Given the description of an element on the screen output the (x, y) to click on. 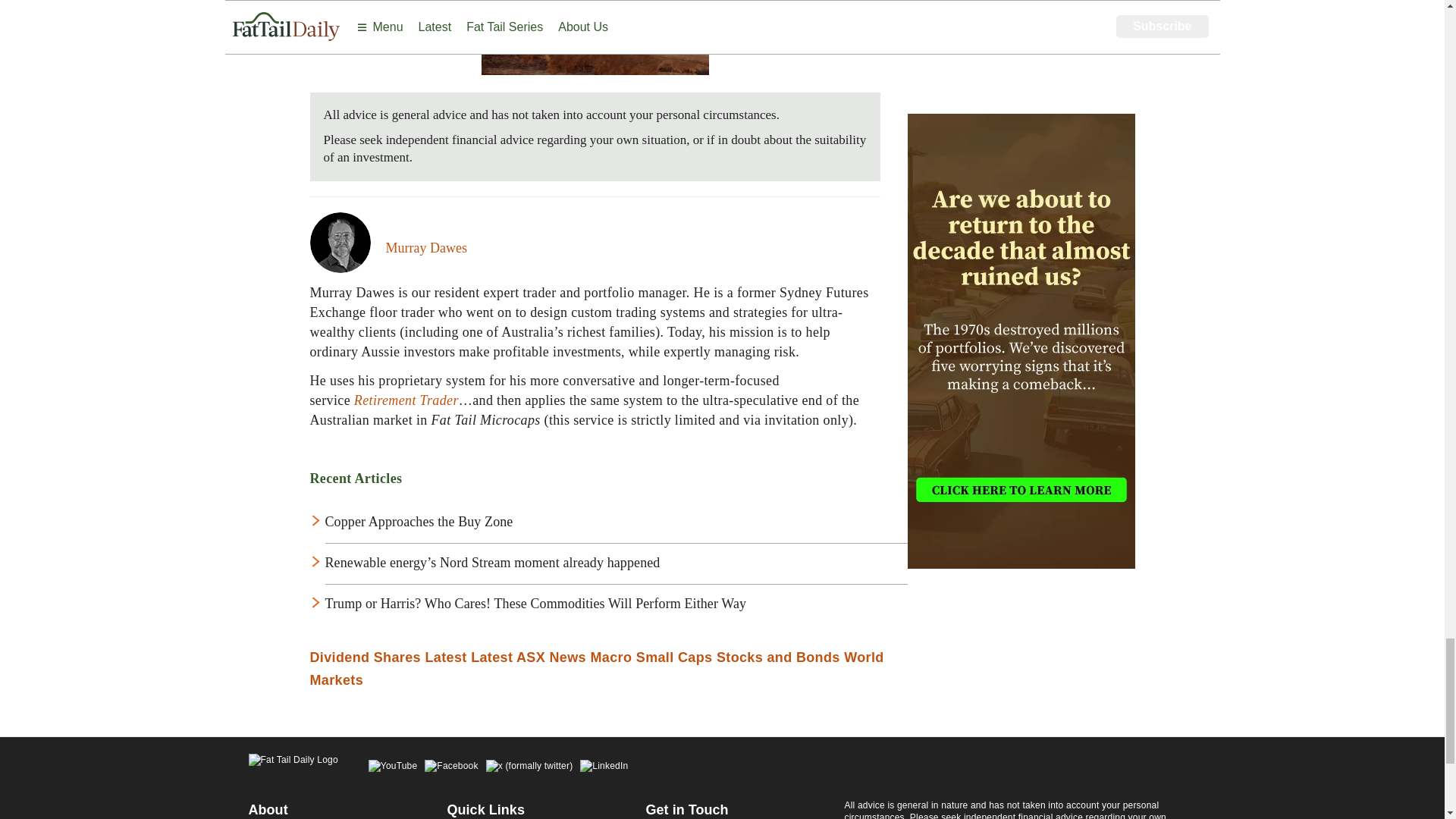
Fat Tail Daily Home (292, 767)
editor (425, 247)
